Given the description of an element on the screen output the (x, y) to click on. 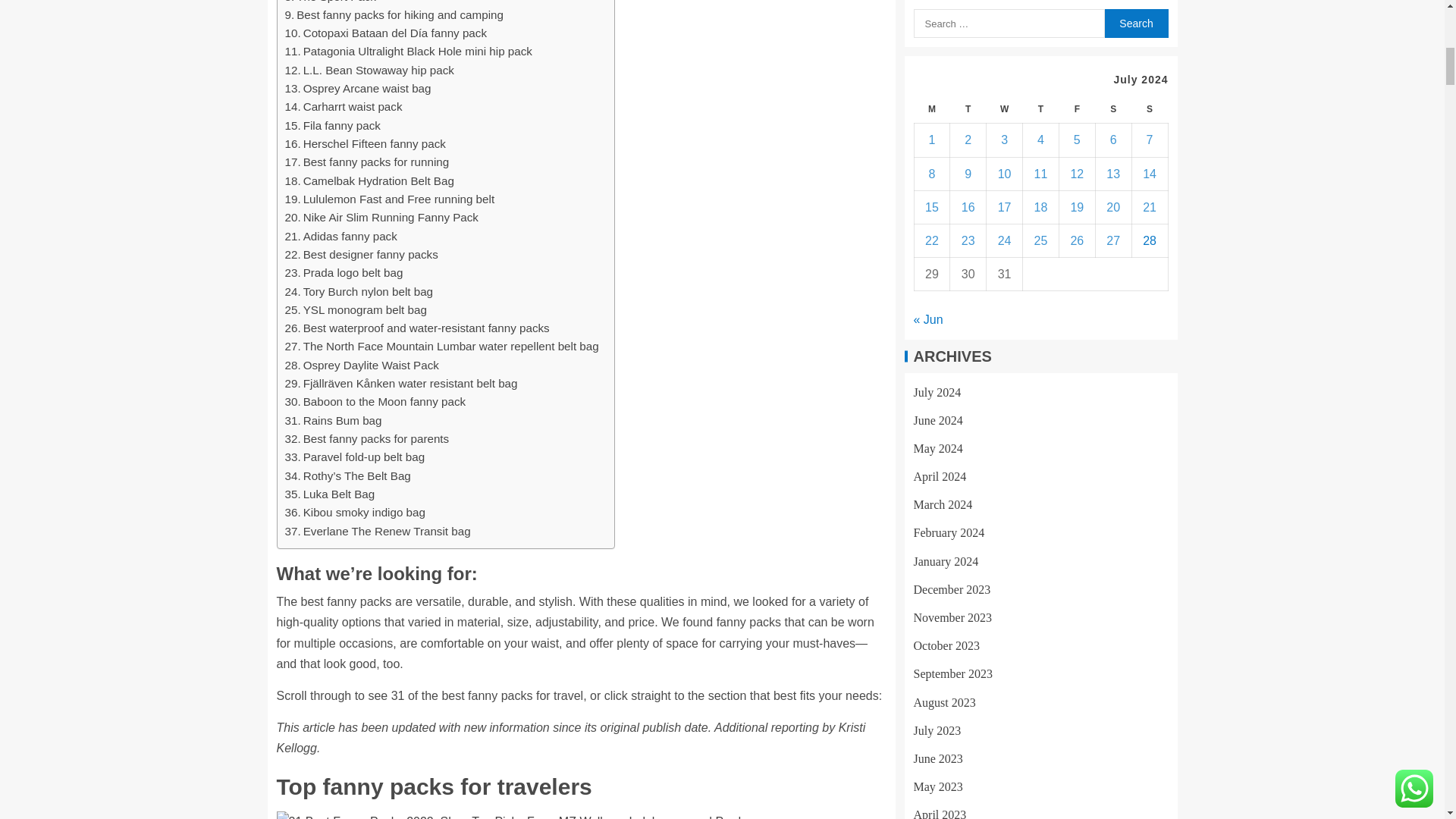
Best fanny packs for hiking and camping (394, 14)
L.L. Bean Stowaway hip pack (369, 70)
Osprey Arcane waist bag (357, 88)
Patagonia Ultralight Black Hole mini hip pack (408, 51)
Carharrt waist pack (344, 106)
L.L. Bean Stowaway hip pack (369, 70)
Patagonia Ultralight Black Hole mini hip pack (408, 51)
The Sport Pack (330, 2)
Best fanny packs for hiking and camping (394, 14)
Fila fanny pack (332, 126)
The Sport Pack (330, 2)
